Given the description of an element on the screen output the (x, y) to click on. 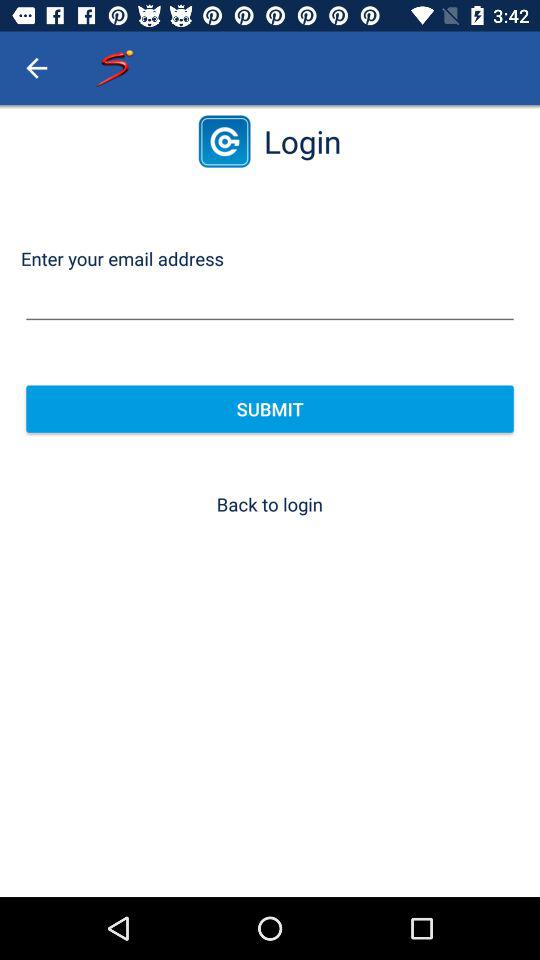
turn off item below the submit (269, 503)
